Given the description of an element on the screen output the (x, y) to click on. 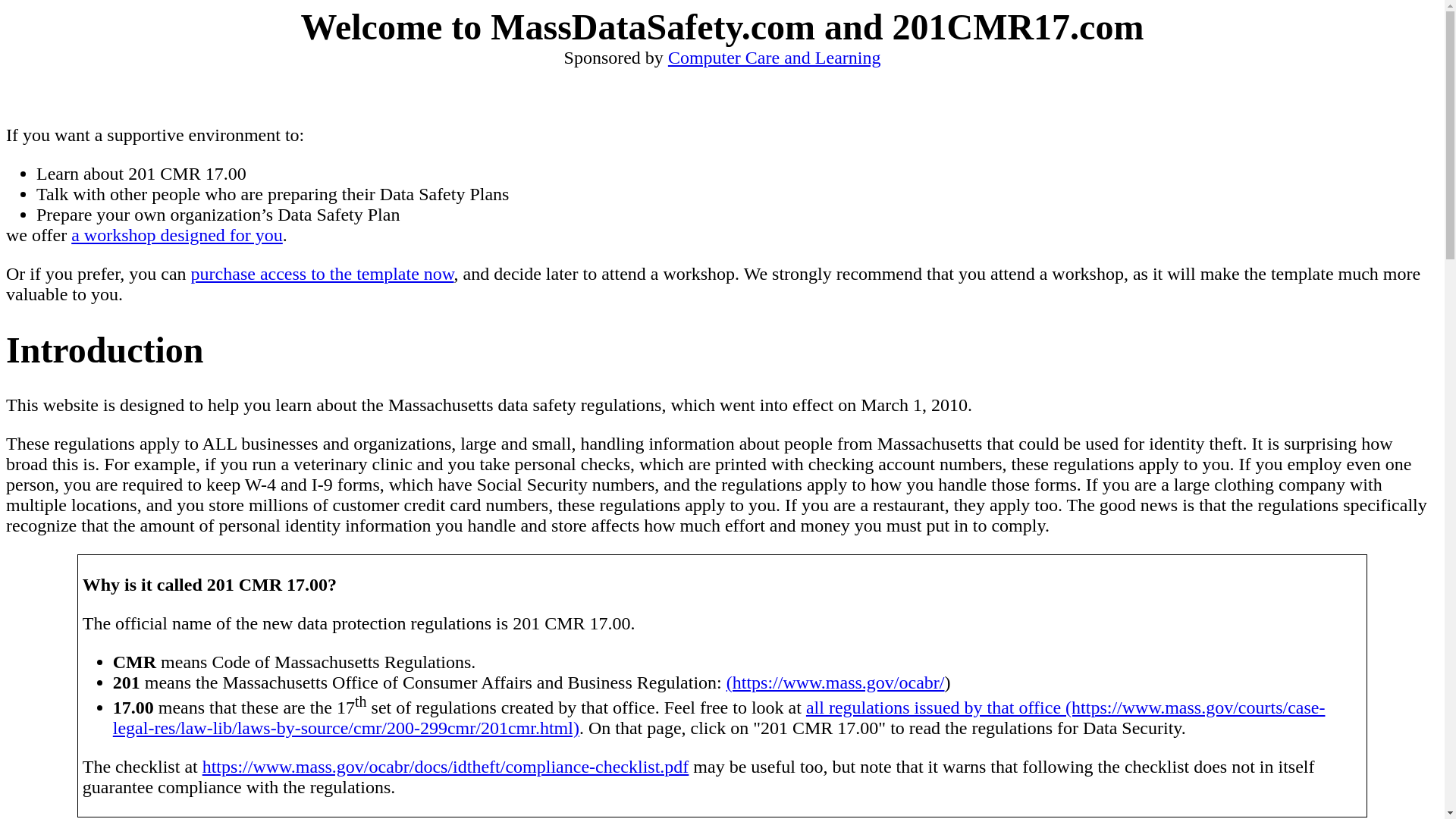
purchase access to the template now Element type: text (322, 273)
(https://www.mass.gov/ocabr/ Element type: text (835, 682)
a workshop designed for you Element type: text (176, 234)
Computer Care and Learning Element type: text (774, 57)
